Given the description of an element on the screen output the (x, y) to click on. 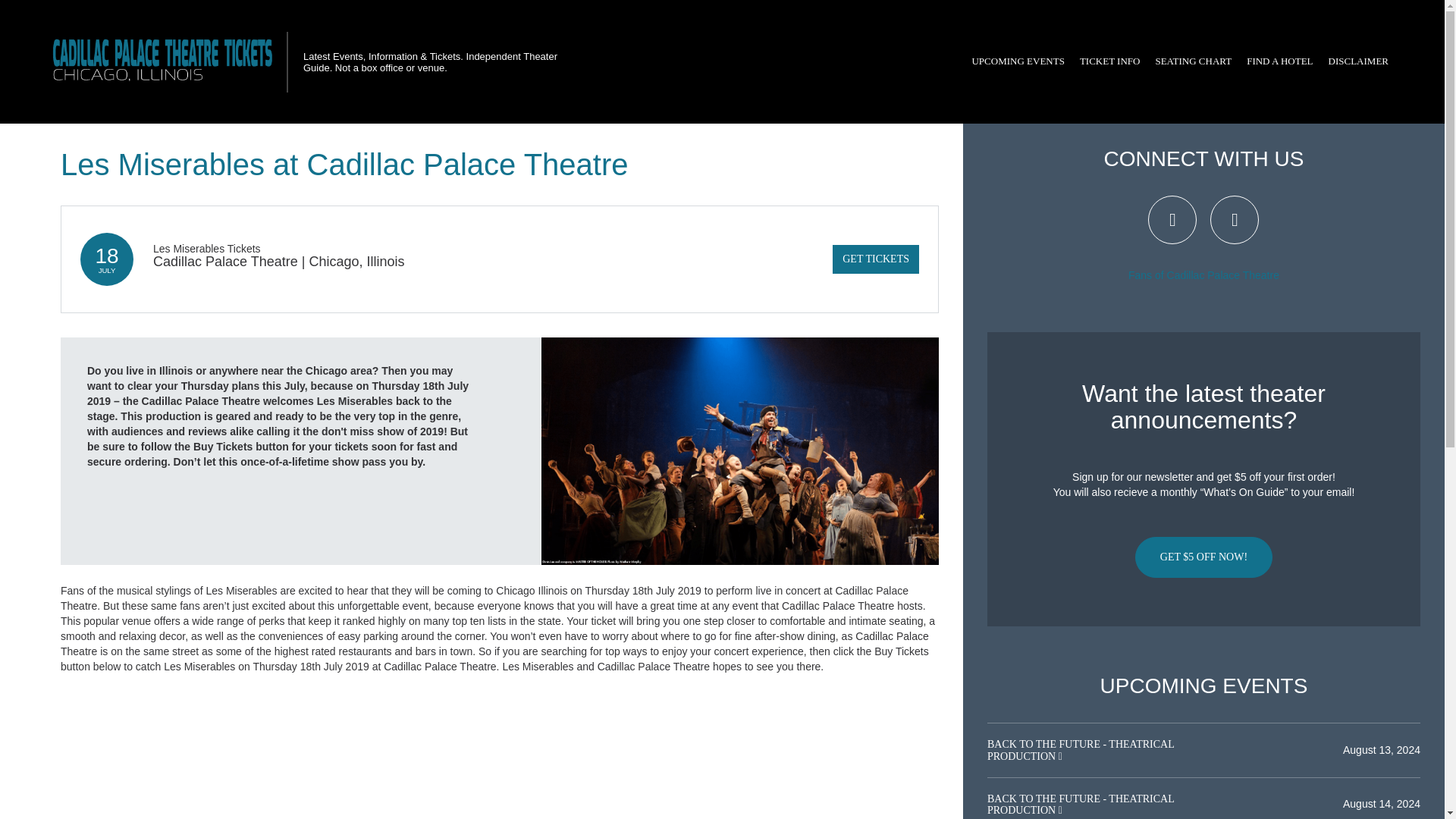
FIND A HOTEL (1279, 61)
Les Miserables Tickets (206, 248)
BACK TO THE FUTURE - THEATRICAL PRODUCTION (1080, 749)
GET TICKETS (875, 258)
DISCLAIMER (1358, 61)
Fans of Cadillac Palace Theatre (1203, 275)
TICKET INFO (1109, 61)
Les Miserables at Cadillac Palace Theatre (740, 451)
SEATING CHART (1193, 61)
UPCOMING EVENTS (1017, 61)
